Given the description of an element on the screen output the (x, y) to click on. 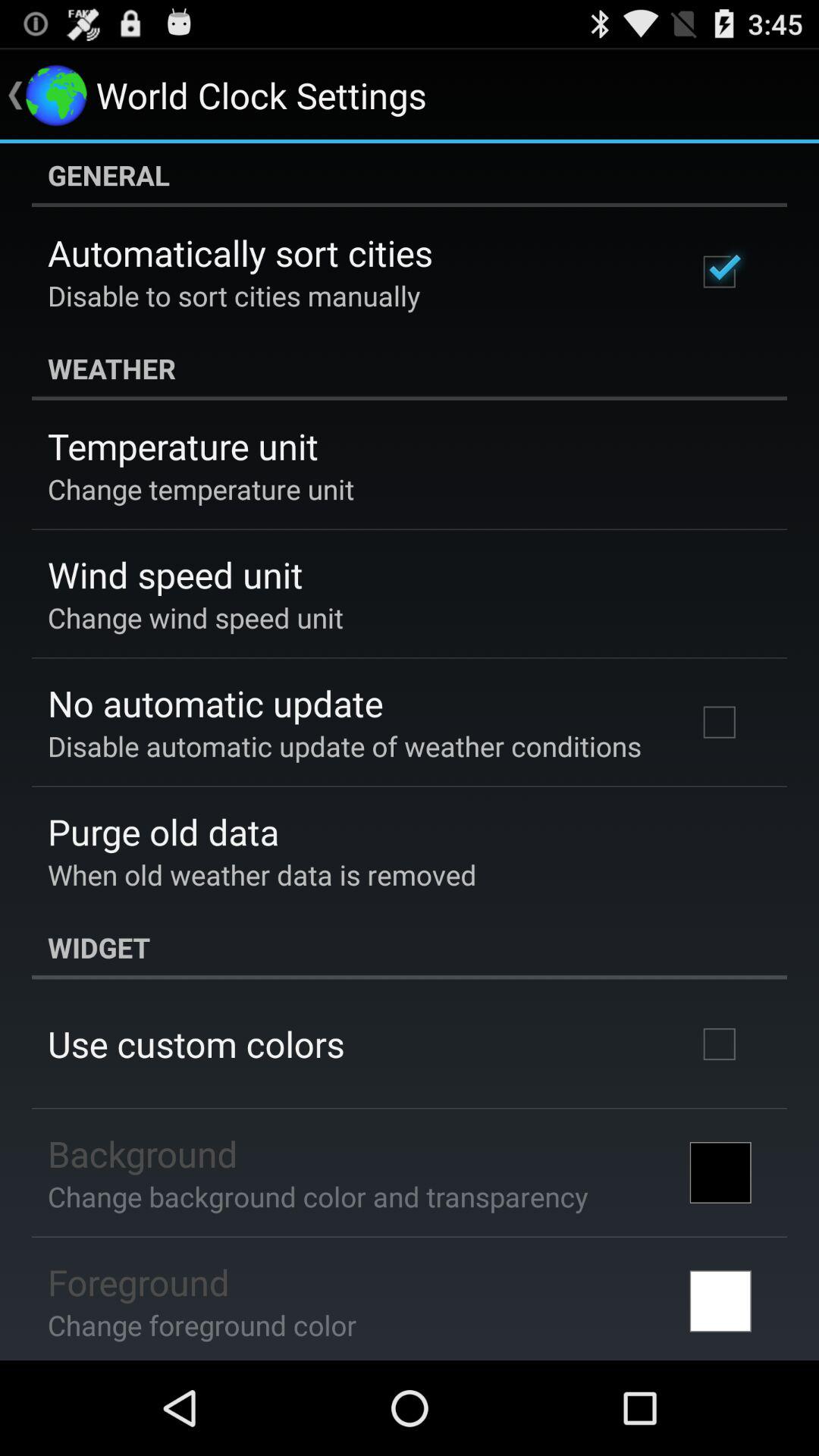
open the item above the weather (233, 295)
